Given the description of an element on the screen output the (x, y) to click on. 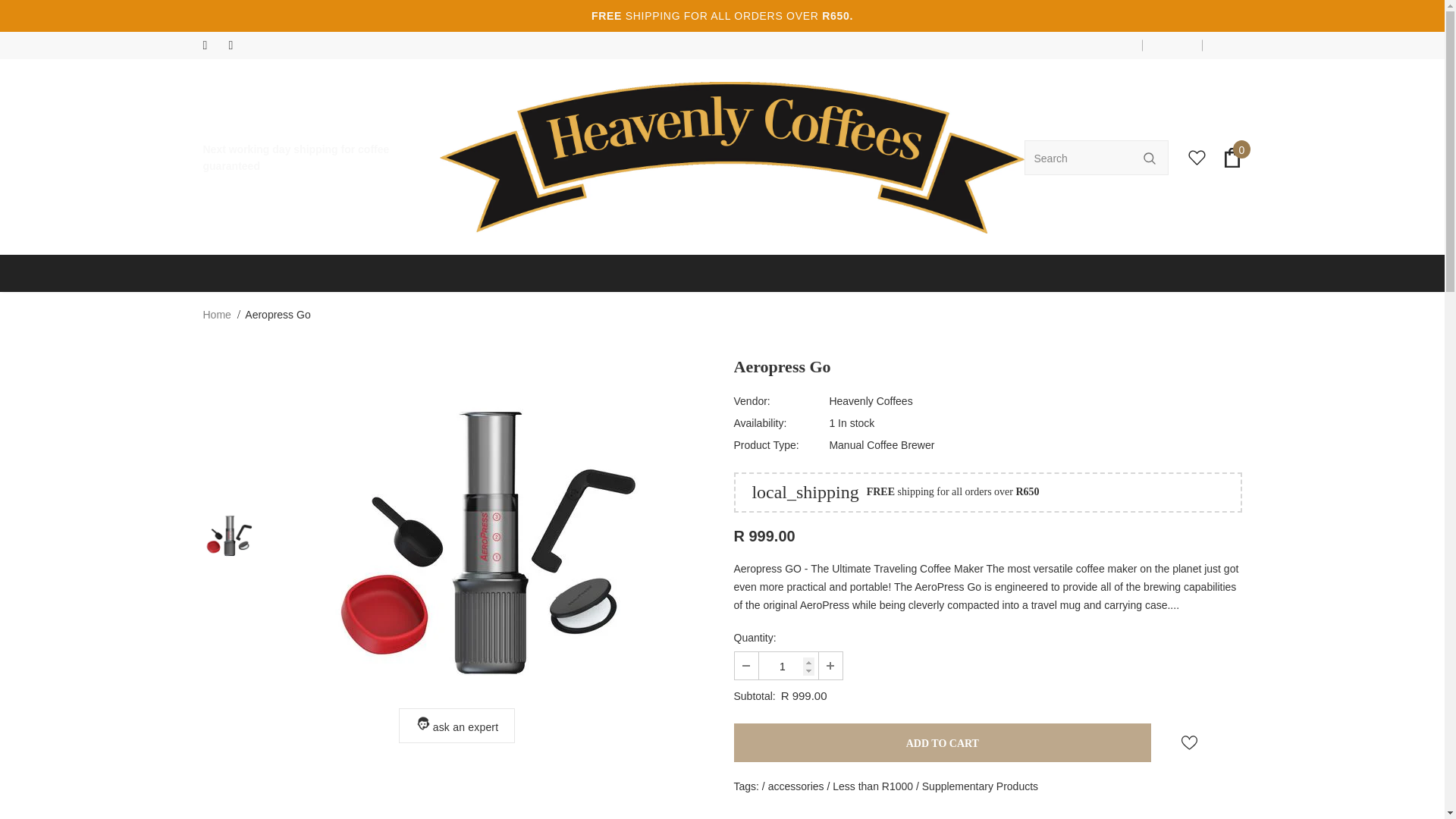
Sign In (1224, 45)
Add to cart (942, 742)
1 (787, 665)
Register (1172, 45)
